Given the description of an element on the screen output the (x, y) to click on. 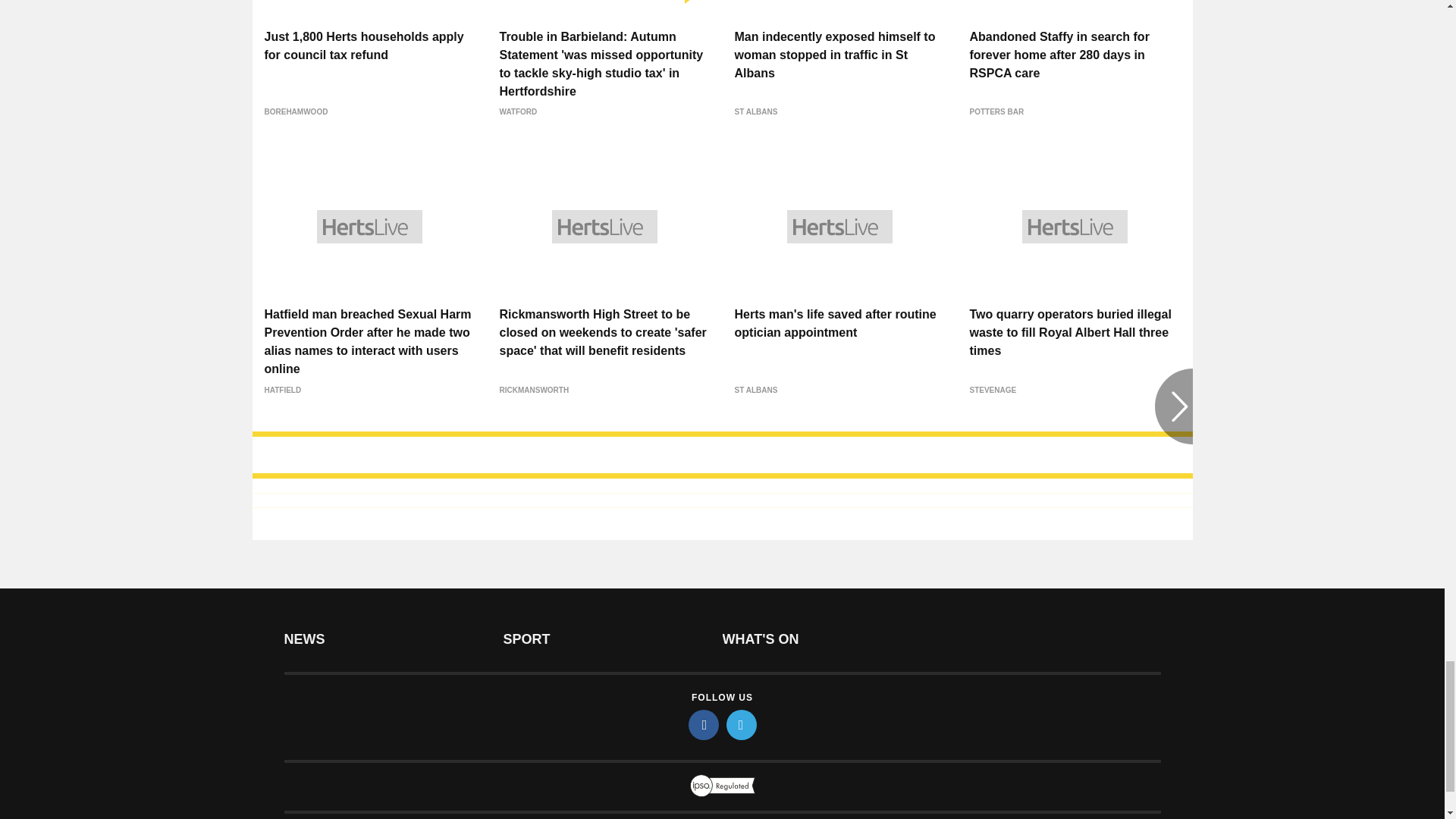
twitter (741, 725)
facebook (703, 725)
